Given the description of an element on the screen output the (x, y) to click on. 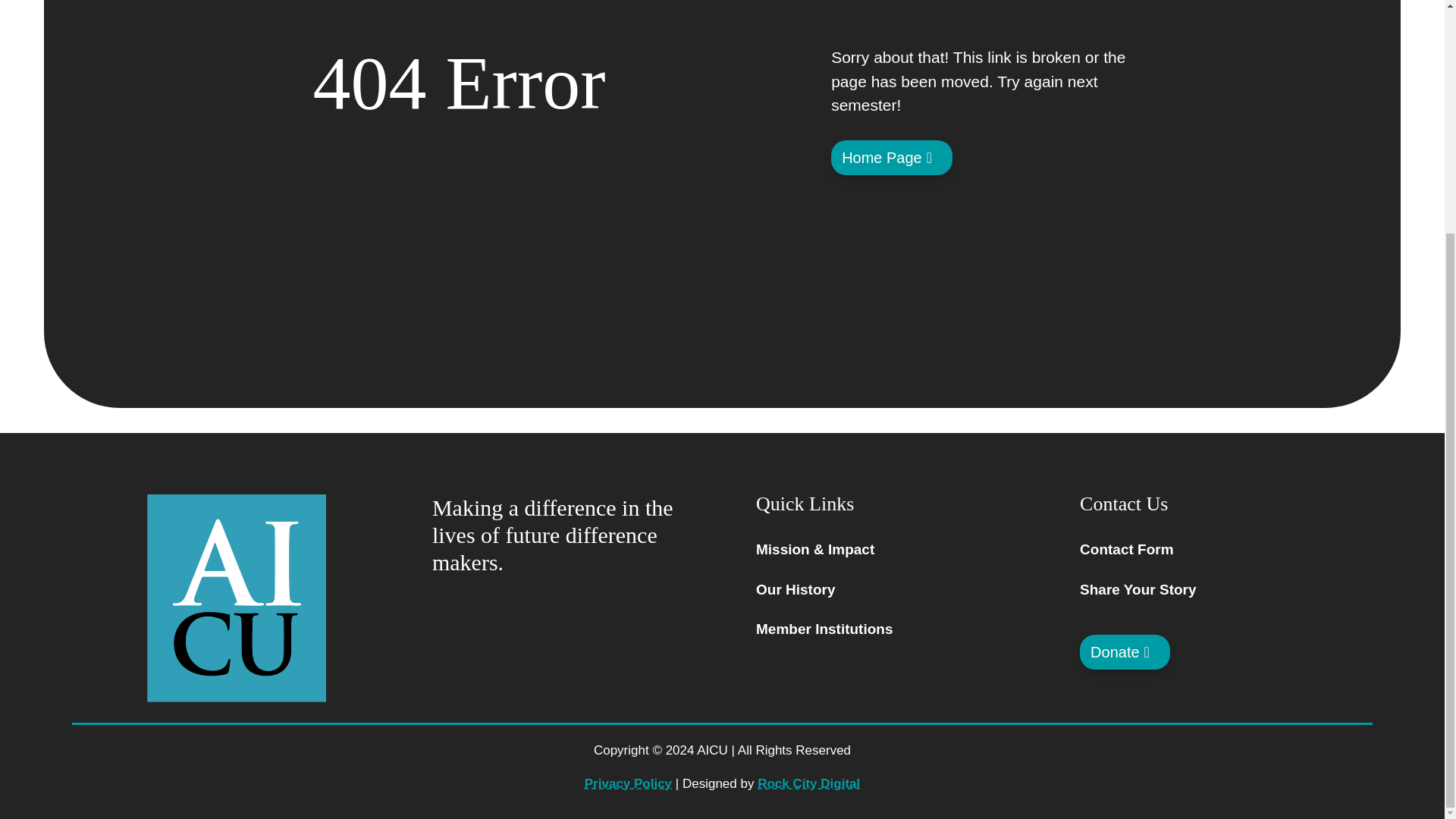
Privacy Policy (628, 783)
Rock City Digital (808, 783)
Home Page (891, 157)
Donate (1125, 651)
